Given the description of an element on the screen output the (x, y) to click on. 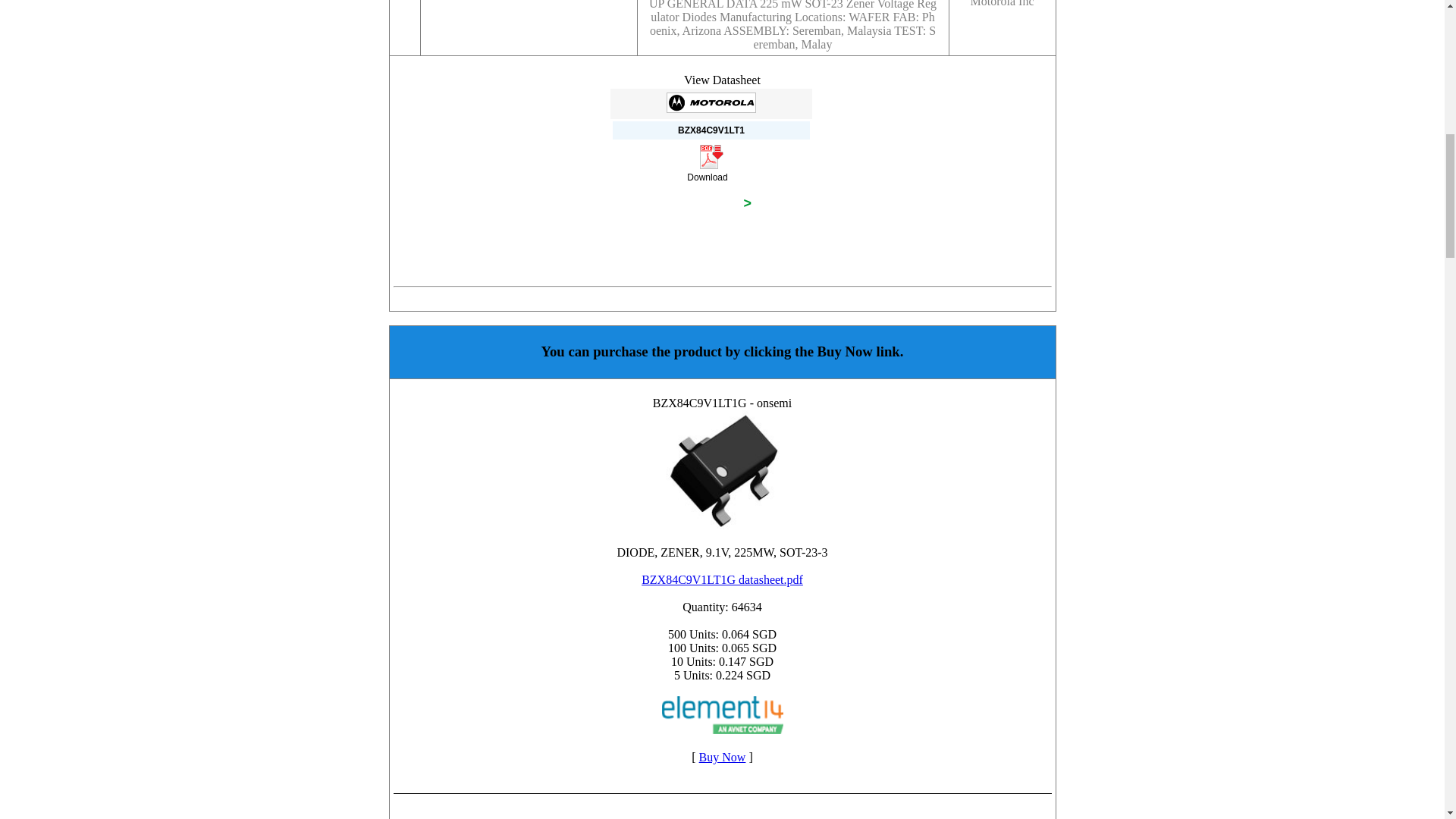
element14 Asia-Pacific (722, 714)
BZX84C9V1LT1G datasheet pdf (721, 469)
BZX84C9V1LT1G datasheet.pdf (722, 579)
Buy Now (721, 757)
